Given the description of an element on the screen output the (x, y) to click on. 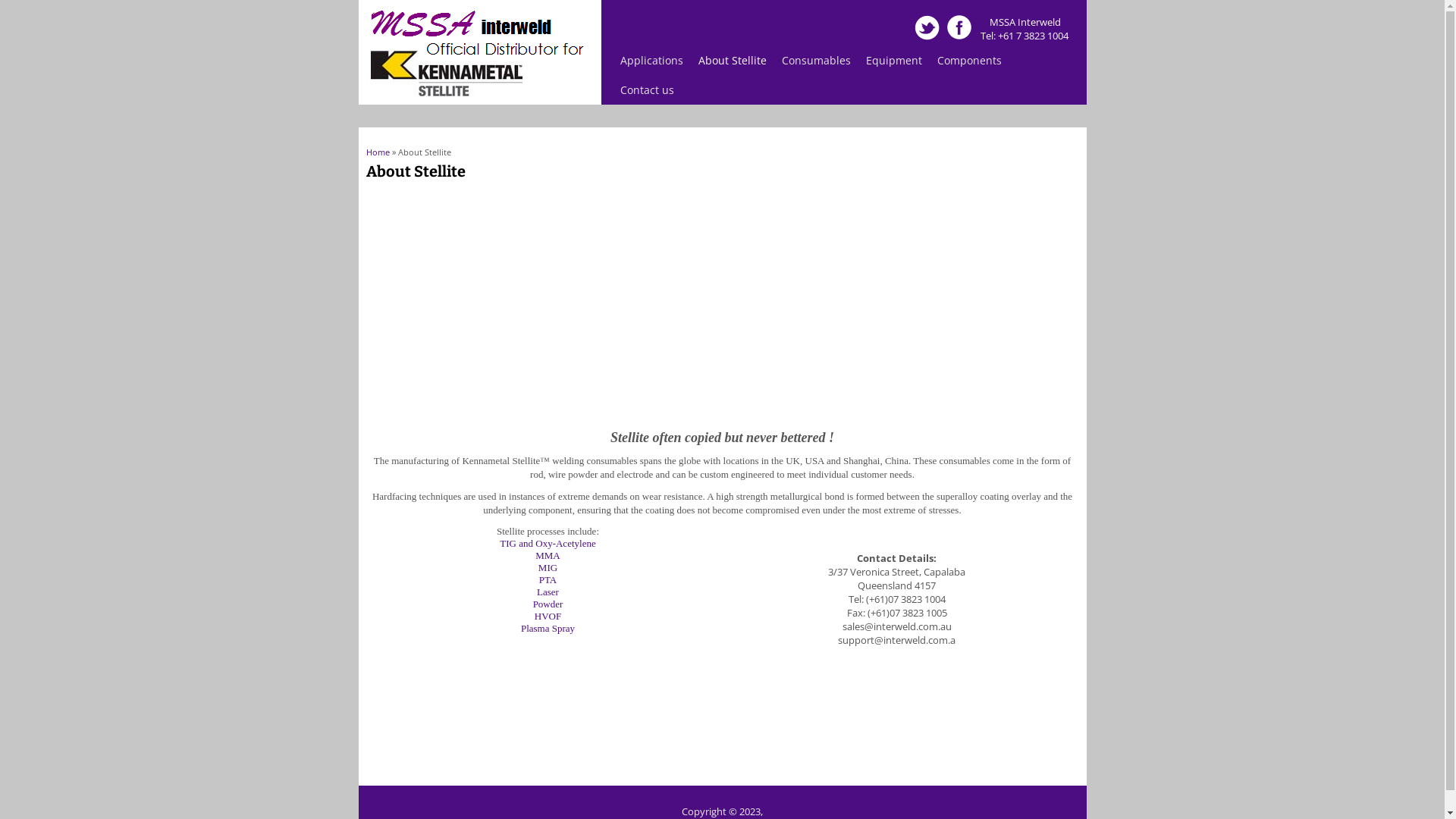
Contact us Element type: text (646, 89)
Applications Element type: text (651, 60)
HVOF Element type: text (547, 615)
Laser Element type: text (547, 591)
Home Element type: hover (477, 96)
Components Element type: text (969, 60)
Consumables Element type: text (815, 60)
About Stellite Element type: text (731, 60)
Plasma Spray Element type: text (547, 627)
PTA Element type: text (548, 579)
Powder Element type: text (548, 603)
MMA Element type: text (547, 555)
Home Element type: text (377, 151)
TIG and Oxy-Acetylene Element type: text (547, 543)
Equipment Element type: text (893, 60)
MIG Element type: text (547, 567)
